Given the description of an element on the screen output the (x, y) to click on. 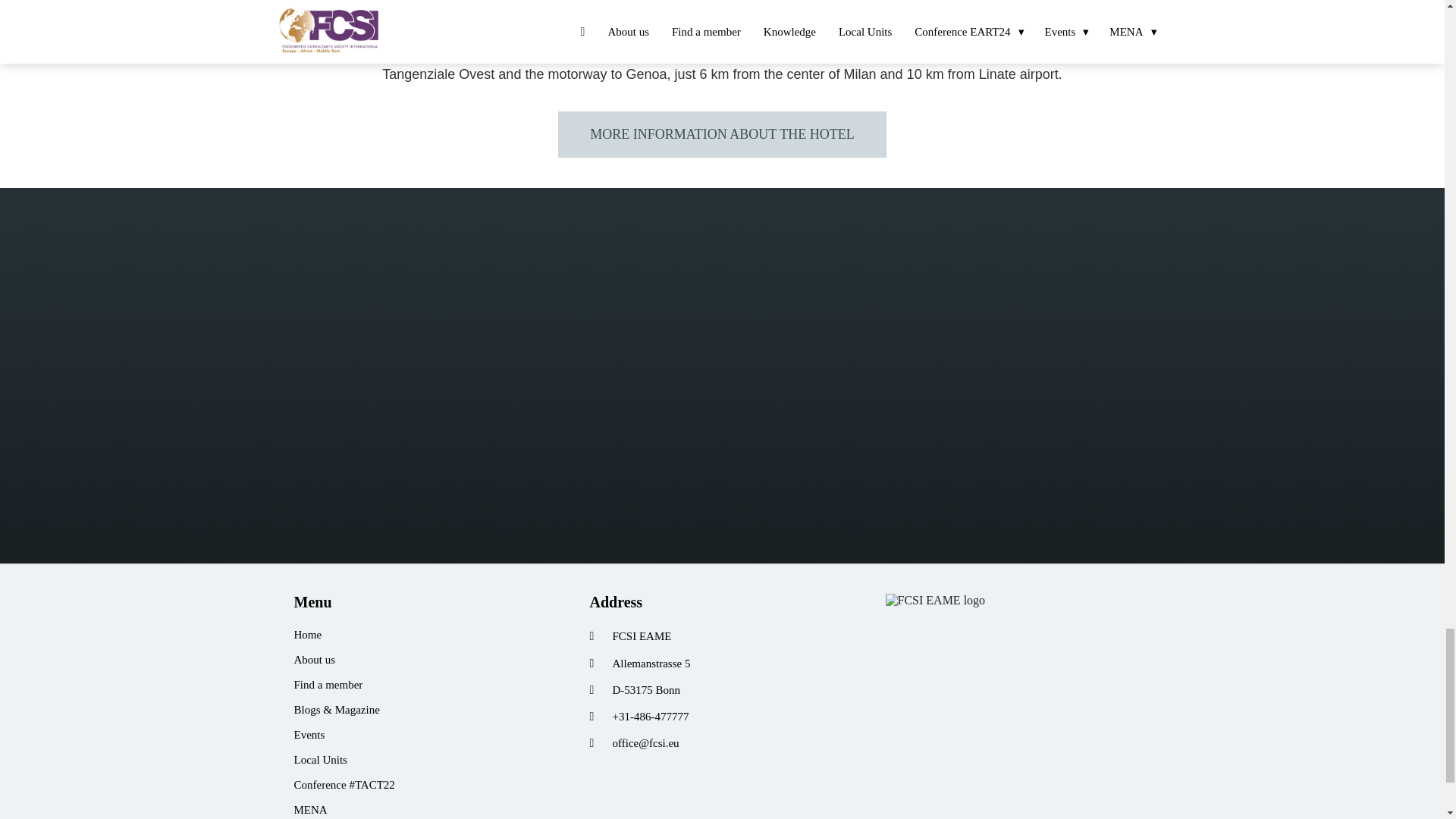
About us (426, 659)
FCSI EAME logo (935, 600)
Find a member (426, 684)
Events (426, 734)
Home (426, 634)
MORE INFORMATION ABOUT THE HOTEL (721, 133)
